Given the description of an element on the screen output the (x, y) to click on. 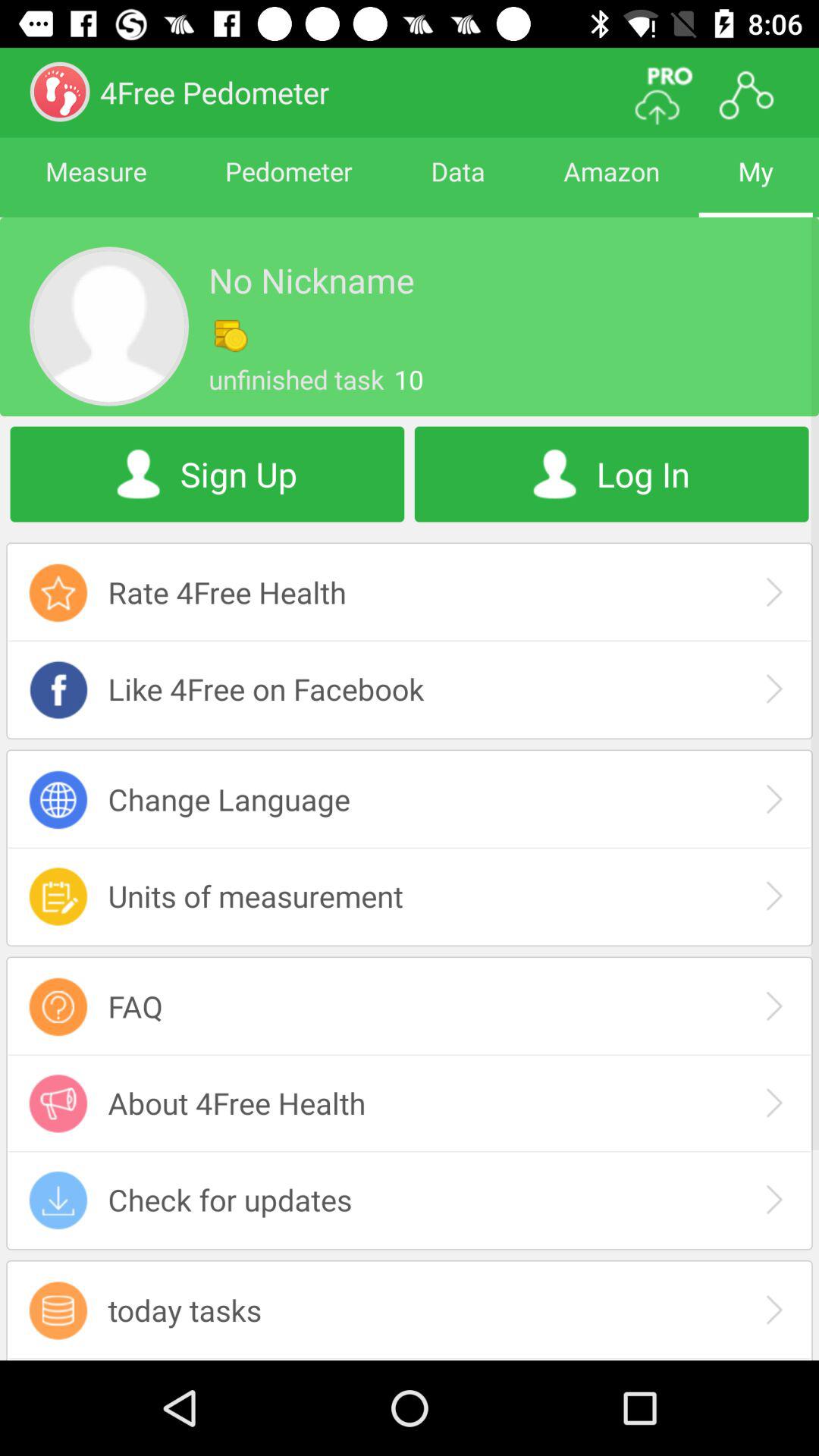
choose an avatar (108, 326)
